Given the description of an element on the screen output the (x, y) to click on. 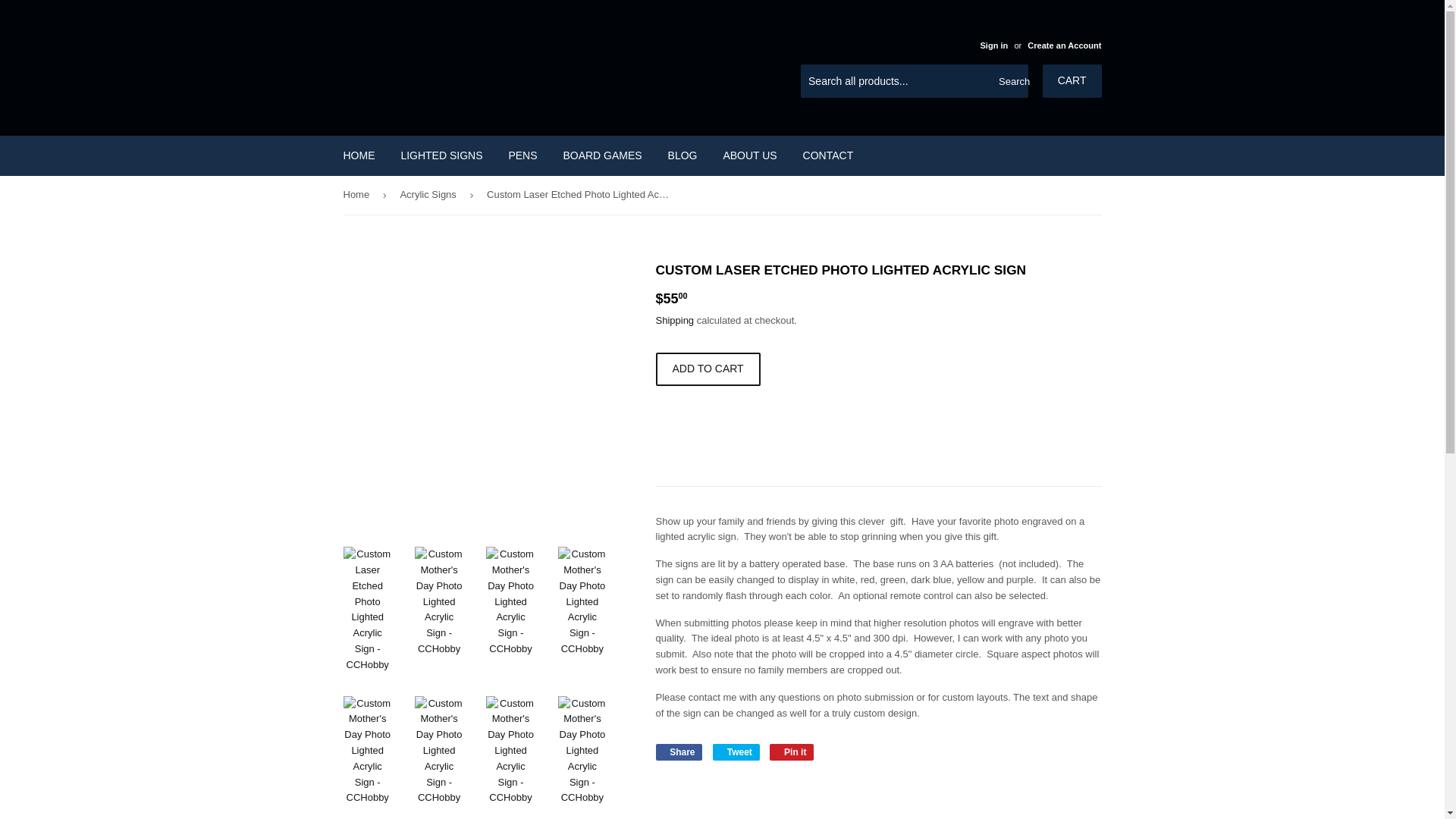
Back to the frontpage (358, 195)
Sign in (993, 44)
Tweet on Twitter (736, 751)
BLOG (682, 155)
ABOUT US (749, 155)
Acrylic Signs (429, 195)
LIGHTED SIGNS (440, 155)
CART (1072, 80)
Search (1010, 81)
Pin on Pinterest (791, 751)
Share on Facebook (678, 751)
BOARD GAMES (601, 155)
Create an Account (1063, 44)
Home (358, 195)
CONTACT (828, 155)
